Given the description of an element on the screen output the (x, y) to click on. 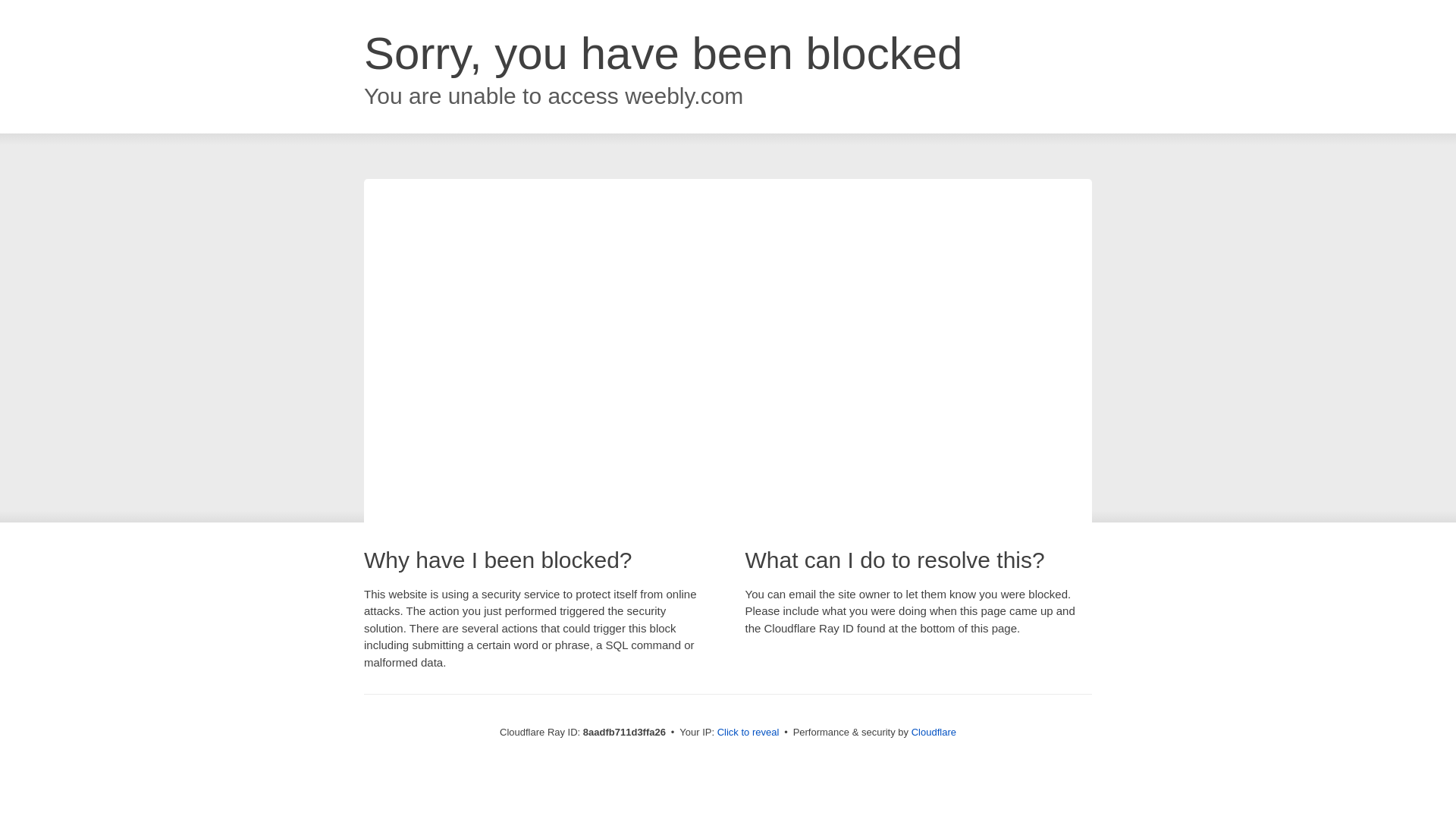
Click to reveal (747, 732)
Cloudflare (933, 731)
